Given the description of an element on the screen output the (x, y) to click on. 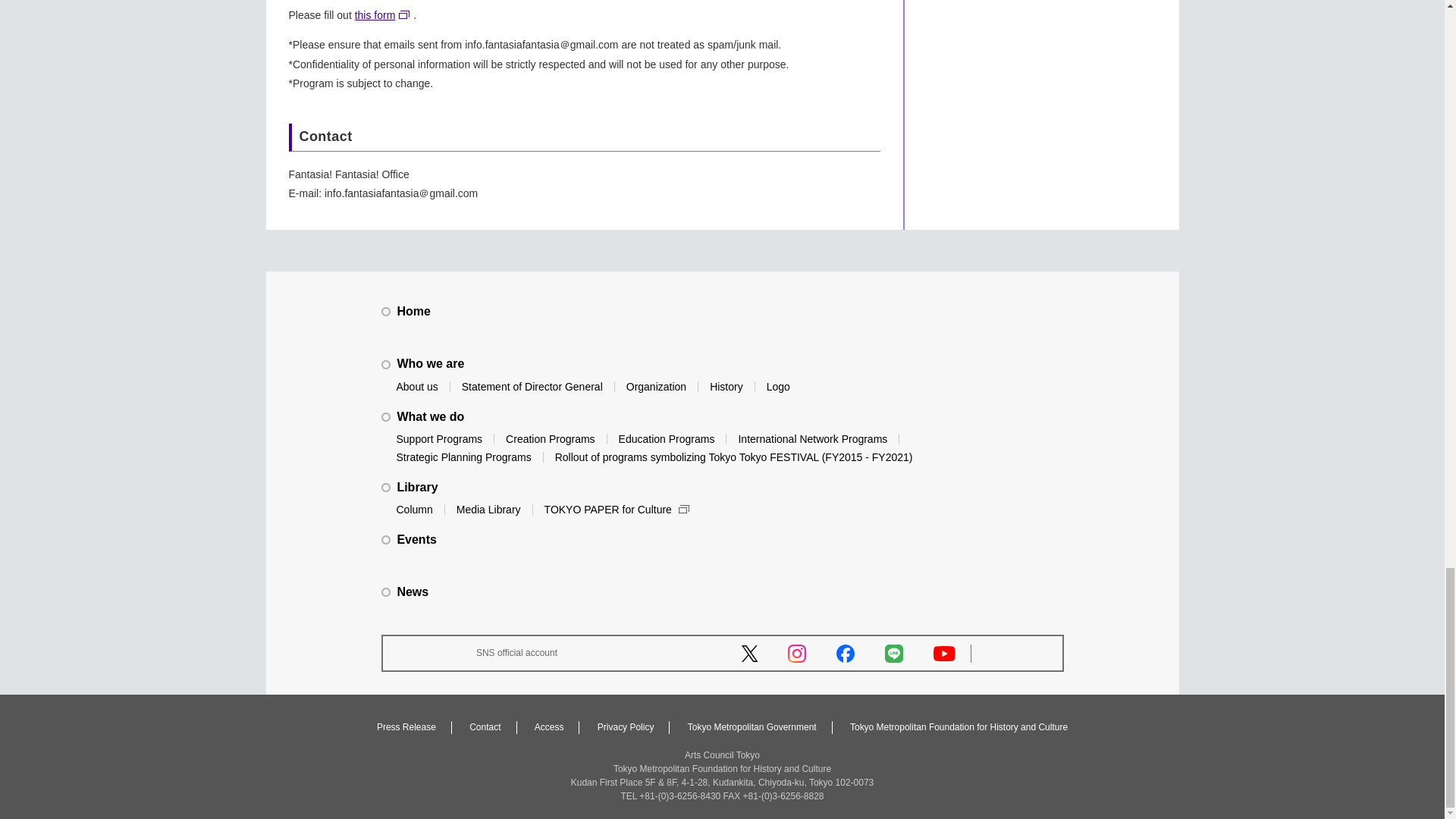
Instagram (796, 653)
LINE (893, 653)
Facebook (844, 653)
X (749, 653)
YouTube (944, 653)
